Given the description of an element on the screen output the (x, y) to click on. 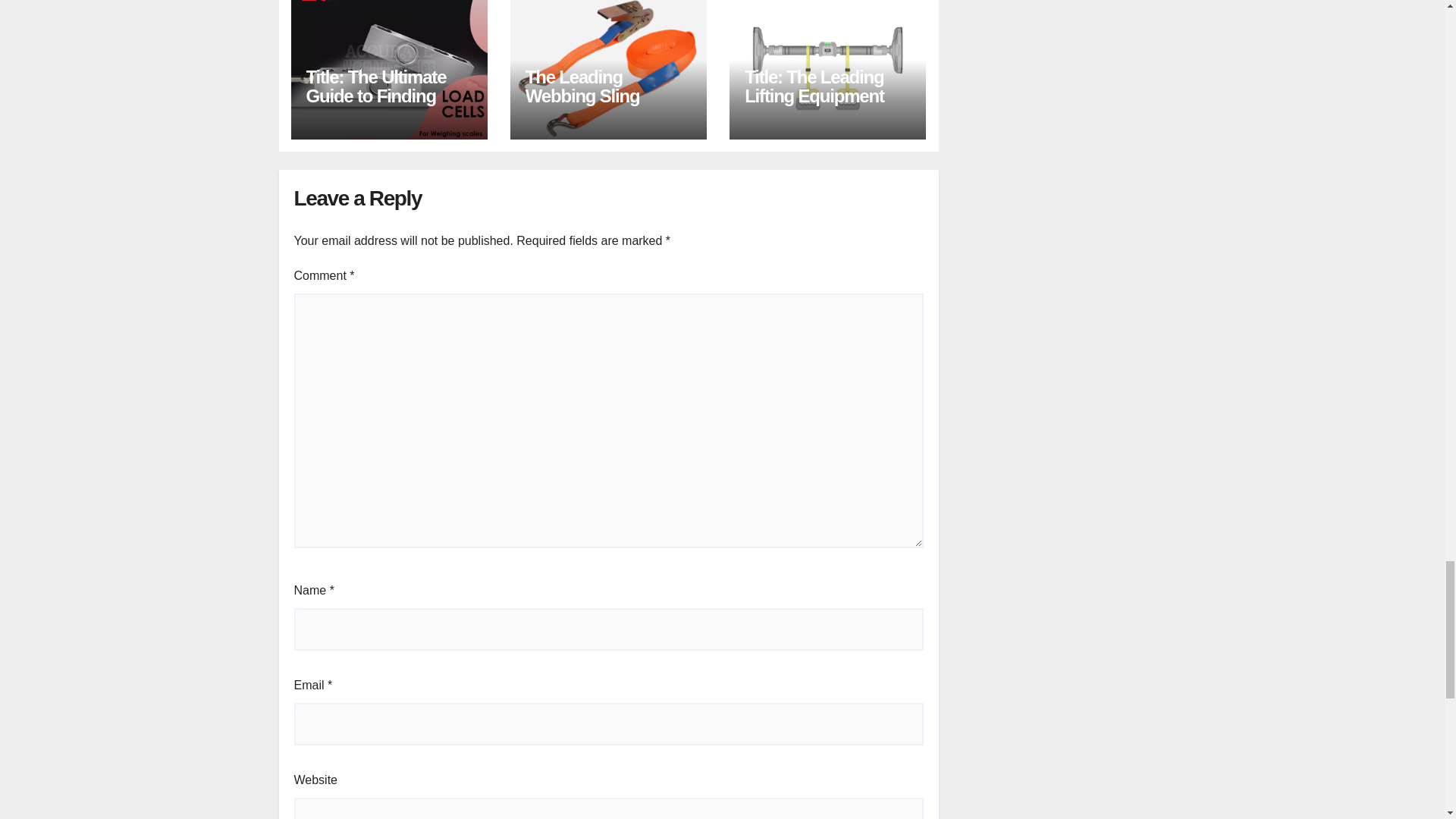
Title: The Leading Lifting Equipment Suppliers in the Market (813, 105)
